Given the description of an element on the screen output the (x, y) to click on. 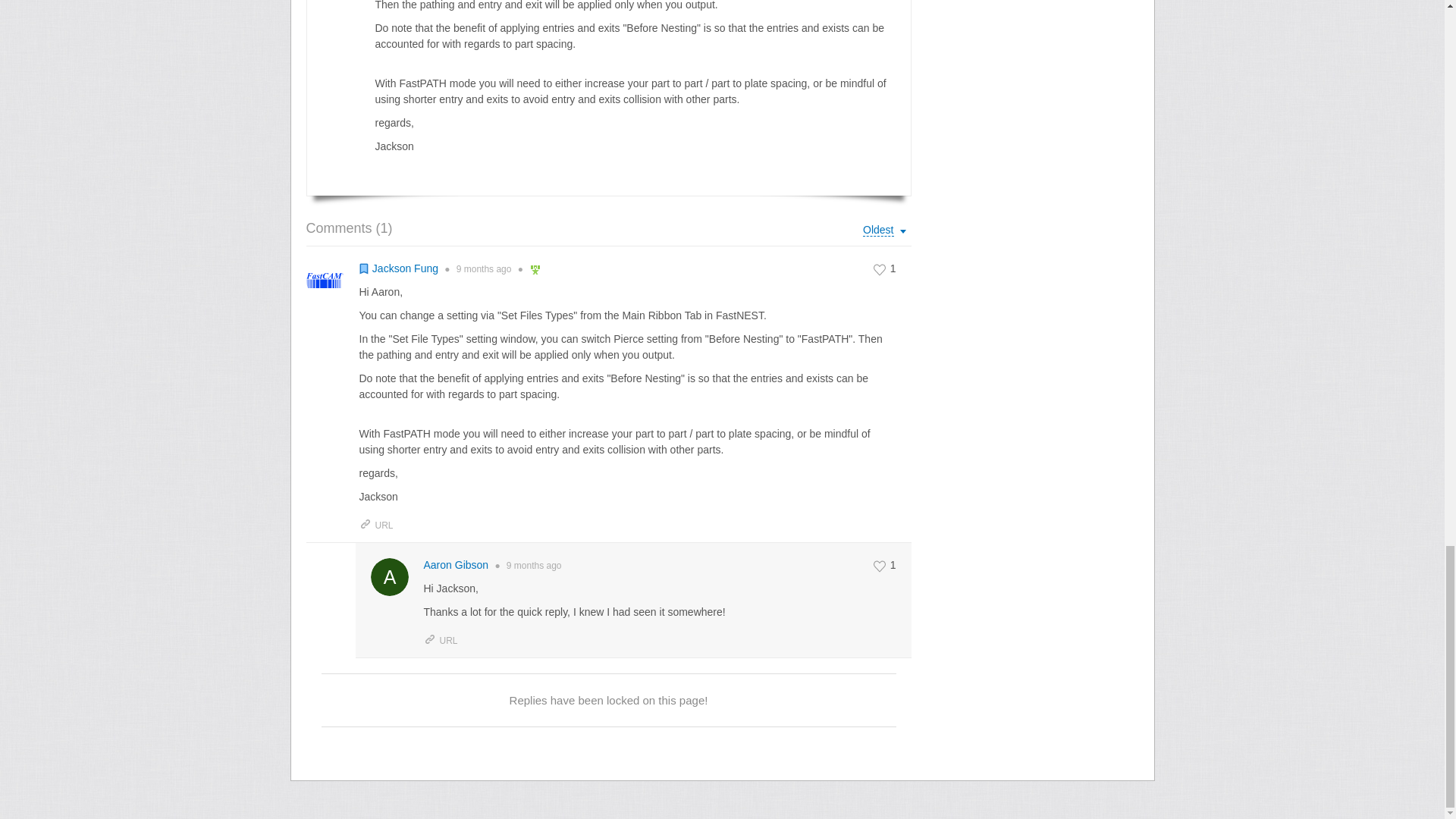
URL (376, 525)
Aaron Gibson (455, 564)
1 (885, 565)
Jackson Fung (405, 268)
URL (440, 640)
1 (885, 268)
